Given the description of an element on the screen output the (x, y) to click on. 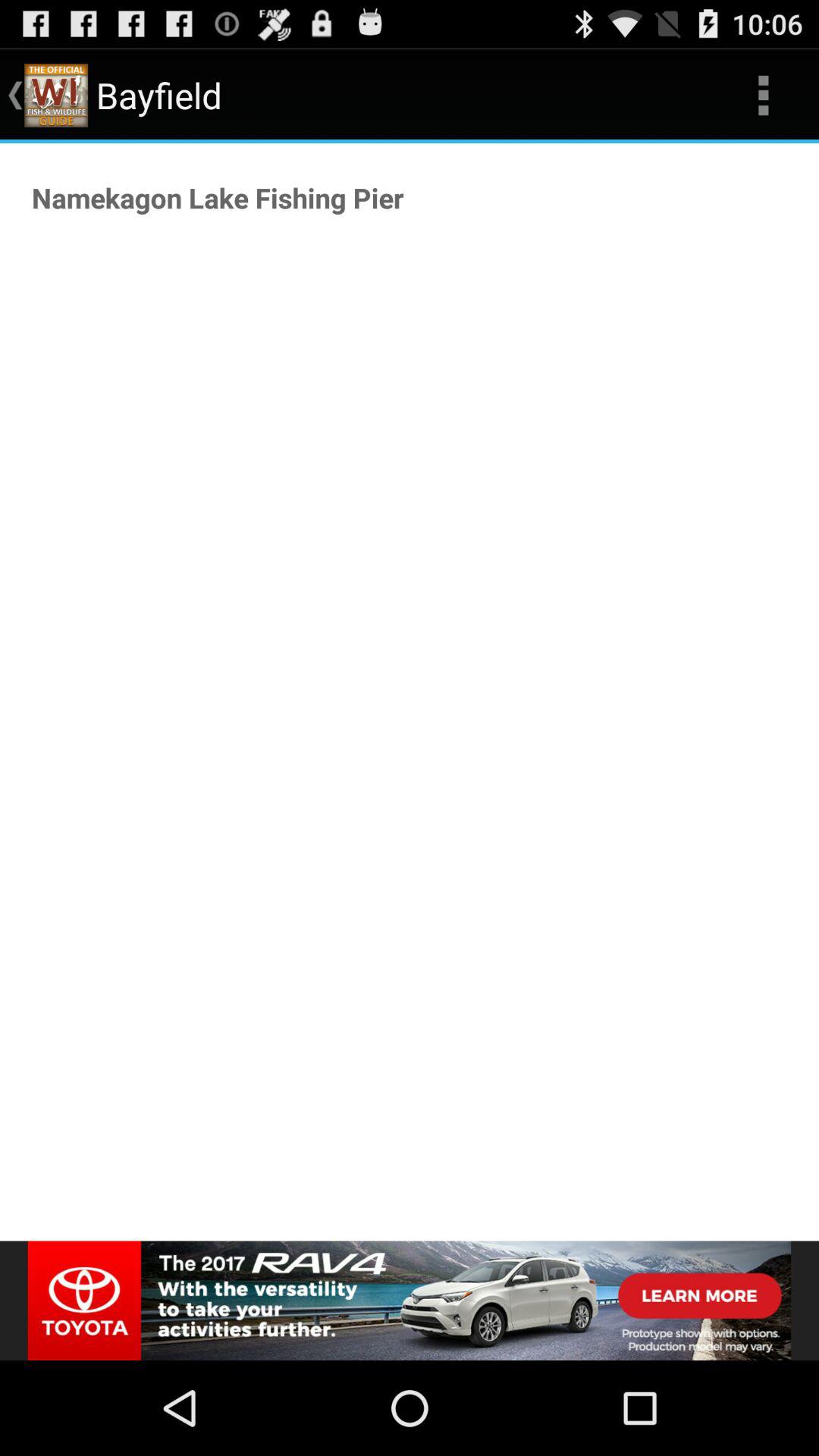
click the icon to the right of the bayfield item (763, 95)
